Given the description of an element on the screen output the (x, y) to click on. 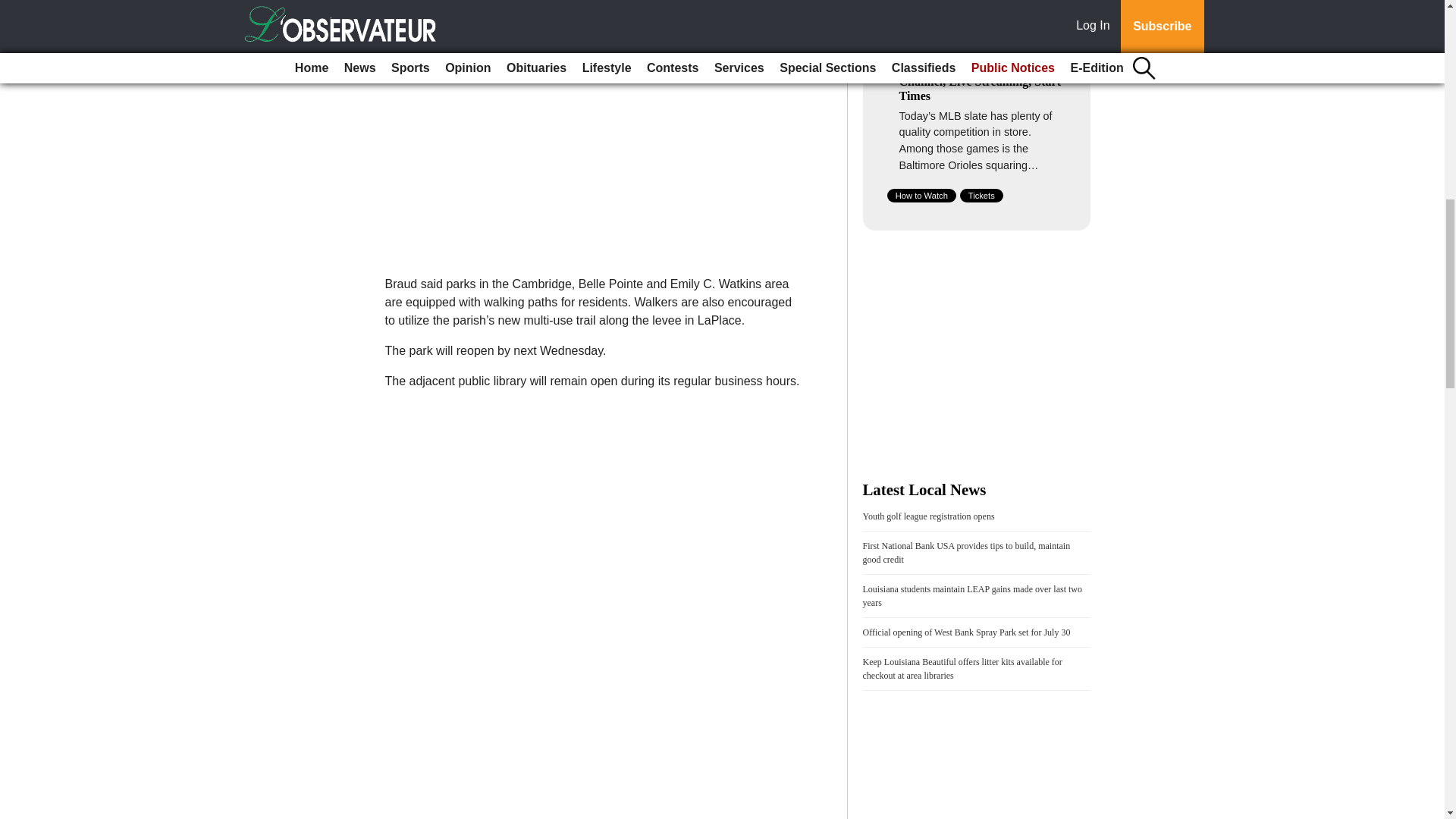
Youth golf league registration opens (928, 516)
How to Watch (921, 195)
Tickets (981, 195)
Official opening of West Bank Spray Park set for July 30 (966, 632)
